Given the description of an element on the screen output the (x, y) to click on. 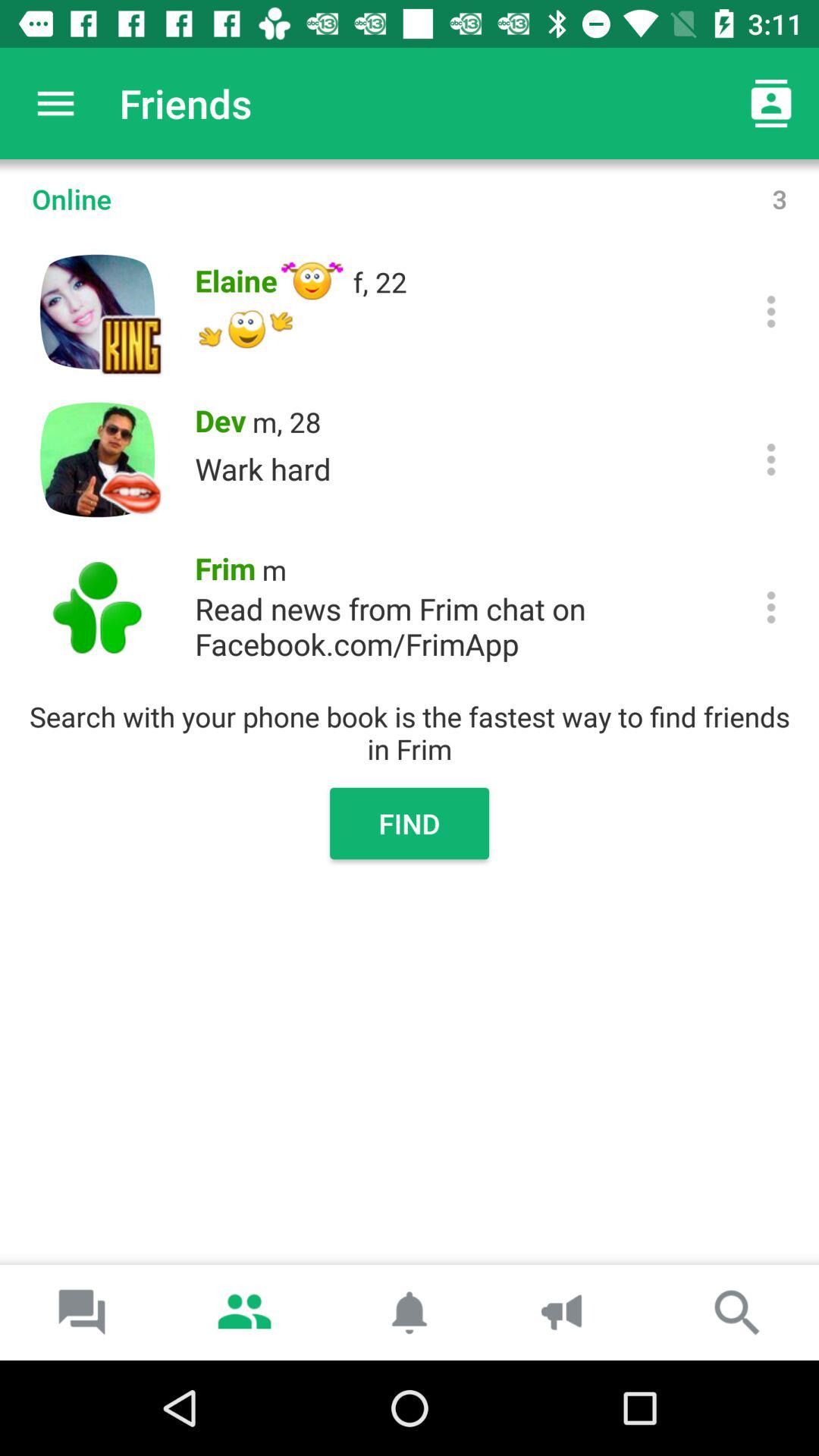
show options (771, 311)
